Given the description of an element on the screen output the (x, y) to click on. 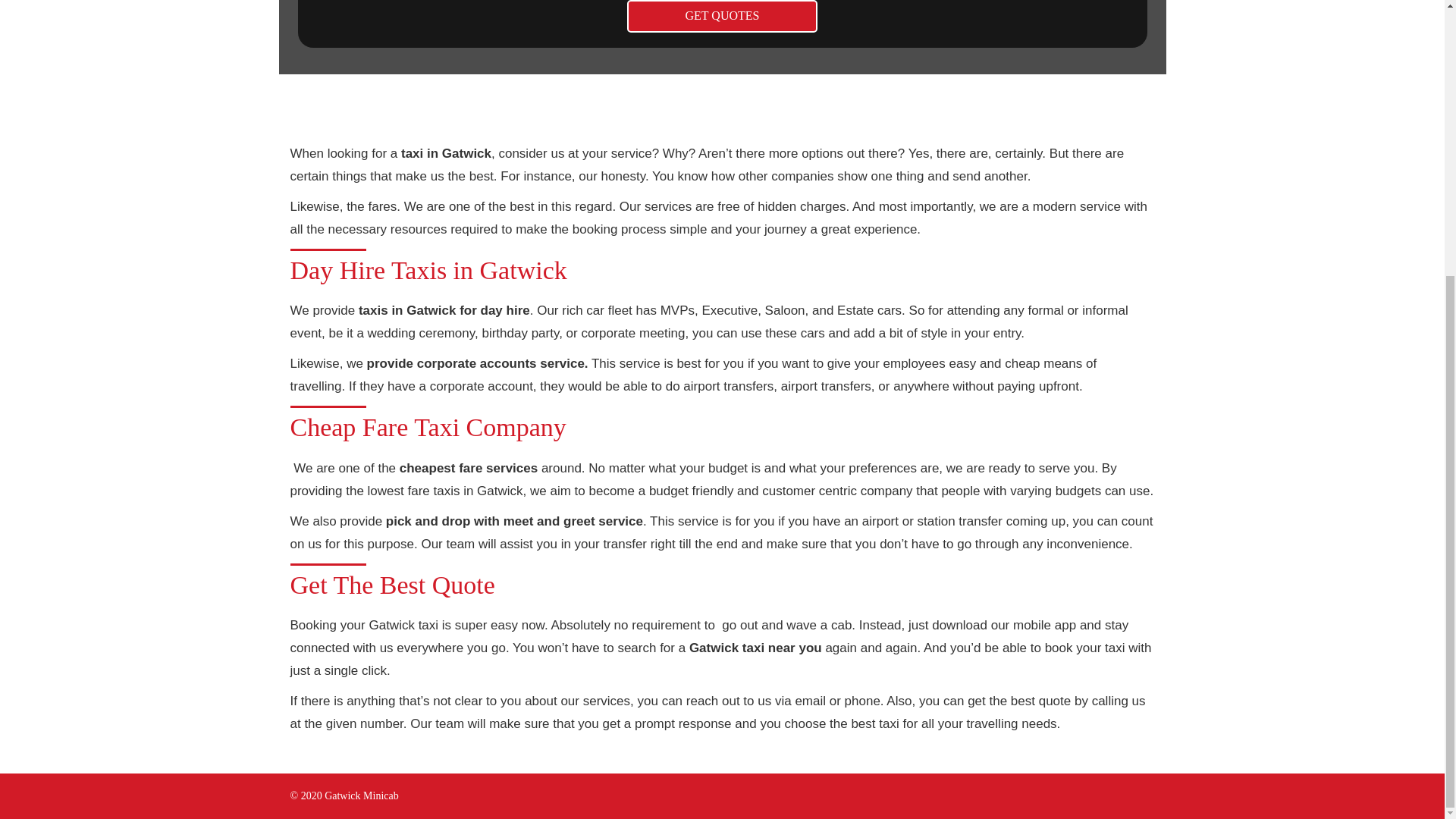
GET QUOTES (721, 16)
